Given the description of an element on the screen output the (x, y) to click on. 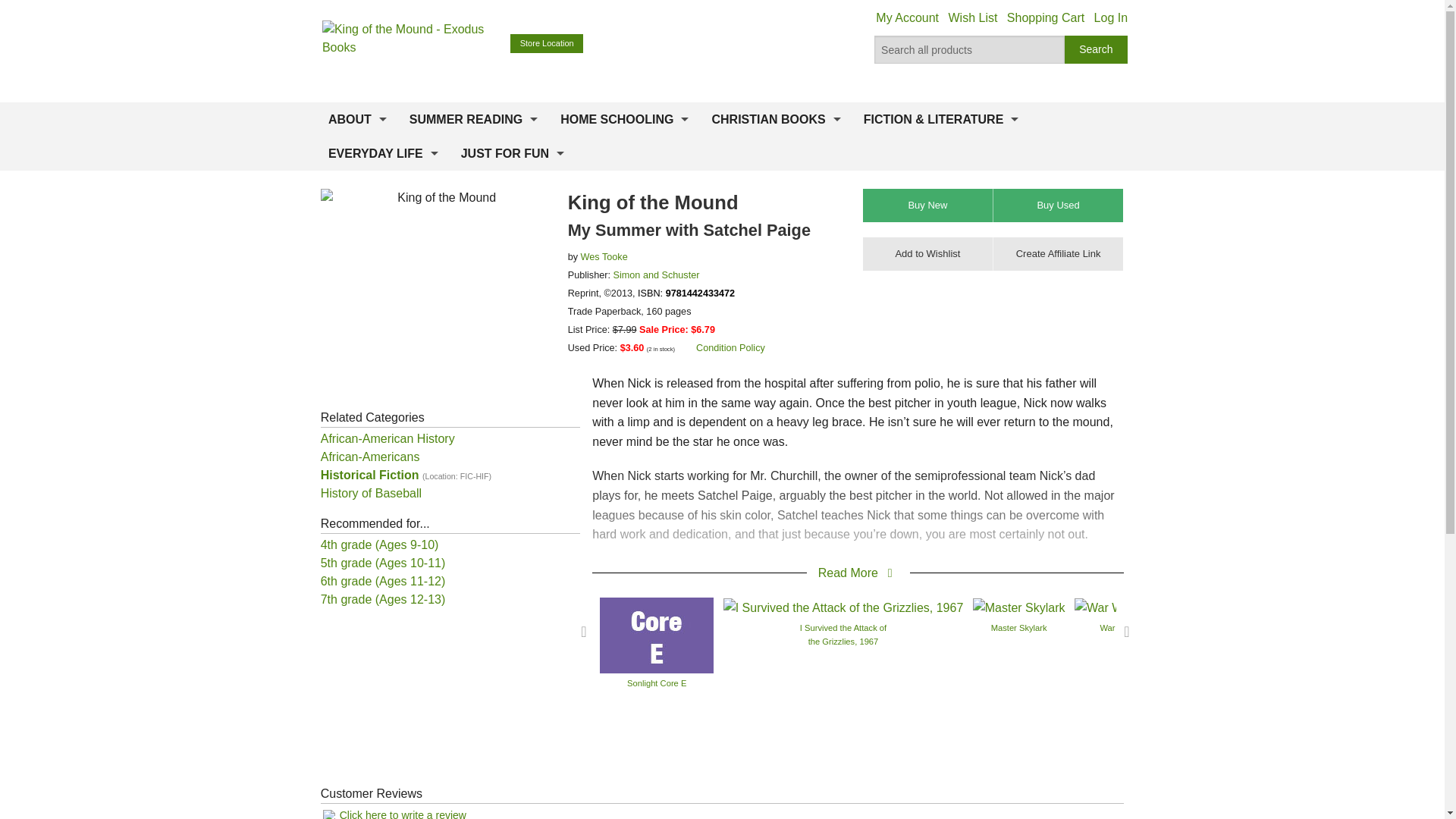
War Within These Walls (1144, 606)
Search (1096, 49)
Master Skylark (1018, 606)
Store Location (547, 43)
CHRISTIAN BOOKS (775, 119)
Buy Used (1057, 205)
add used to cart (1057, 205)
Buy New (927, 205)
Sonlight Core E (656, 634)
EVERYDAY LIFE (383, 153)
Search (1096, 49)
Wayah of the Real People (1300, 606)
Buy Used (1057, 205)
link to this item (1057, 254)
Add to Wishlist (927, 254)
